Given the description of an element on the screen output the (x, y) to click on. 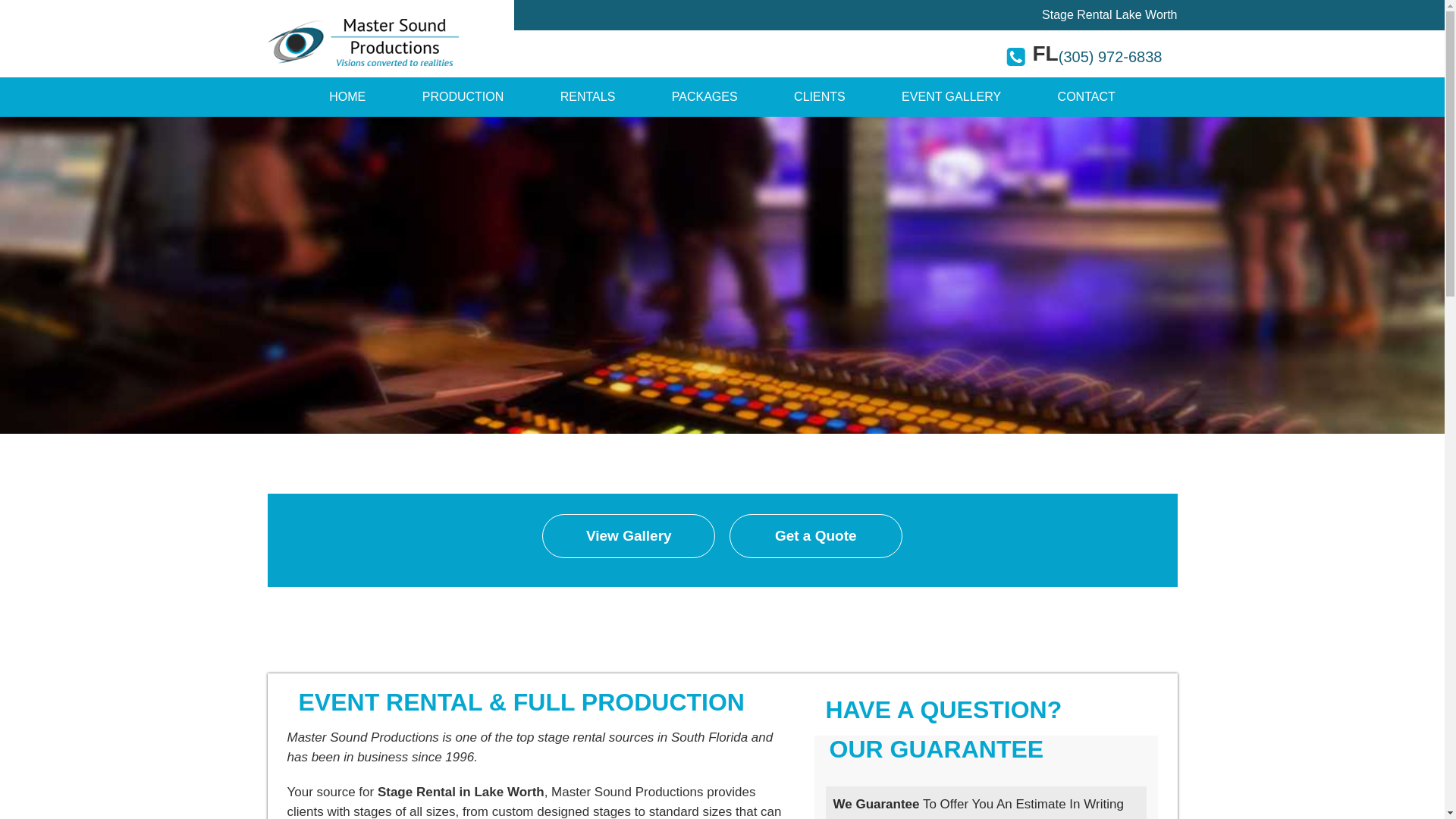
HOME (346, 96)
View Gallery (627, 535)
EVENT GALLERY (951, 96)
RENTALS (588, 96)
Get a Quote (815, 535)
PACKAGES (704, 96)
Production (463, 96)
PRODUCTION (463, 96)
CONTACT (1085, 96)
Master Sound Productions (346, 96)
